Given the description of an element on the screen output the (x, y) to click on. 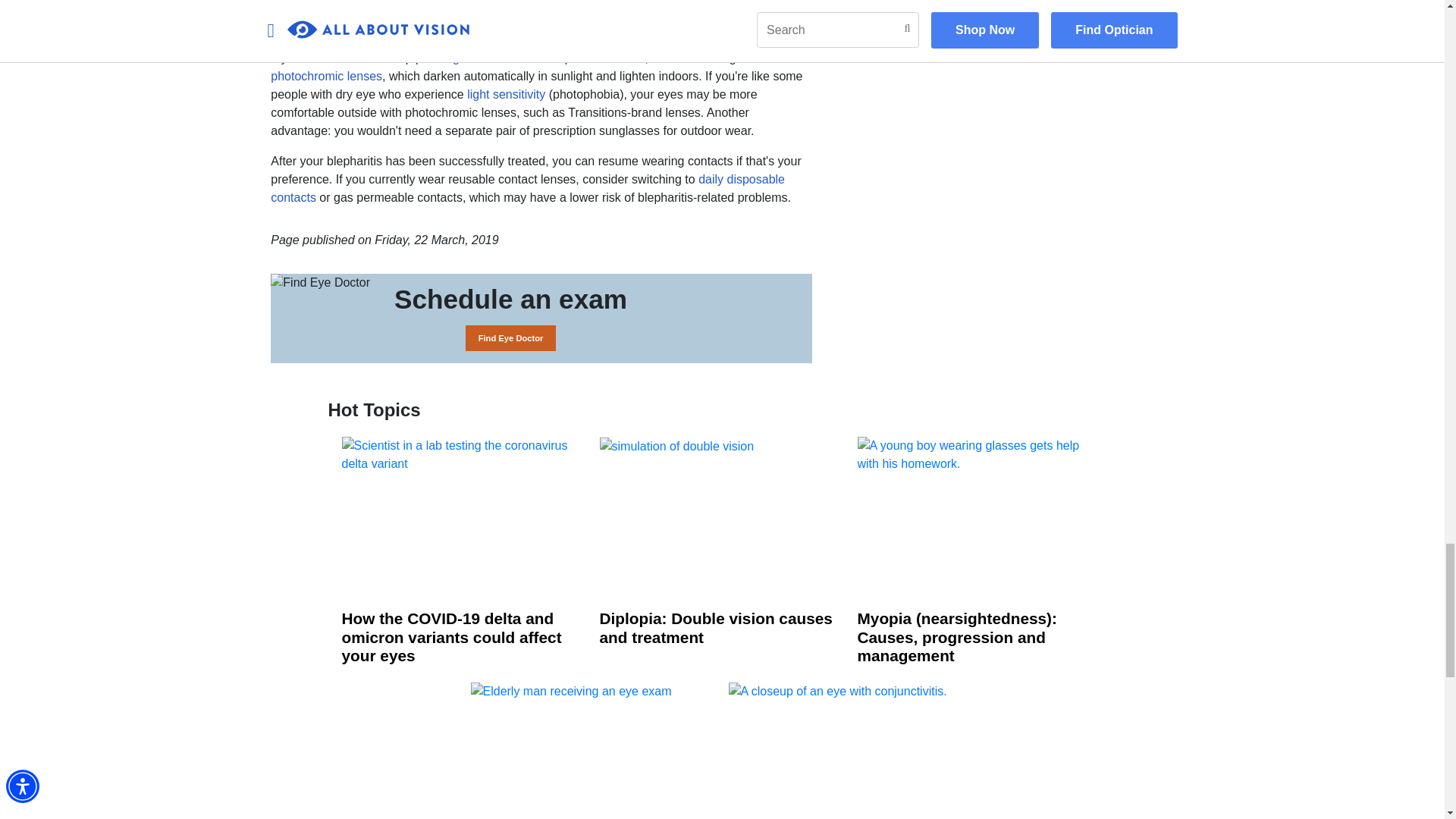
glasses  (474, 57)
daily disposable contacts (527, 187)
photochromic lenses (325, 75)
light sensitivity (505, 93)
